Given the description of an element on the screen output the (x, y) to click on. 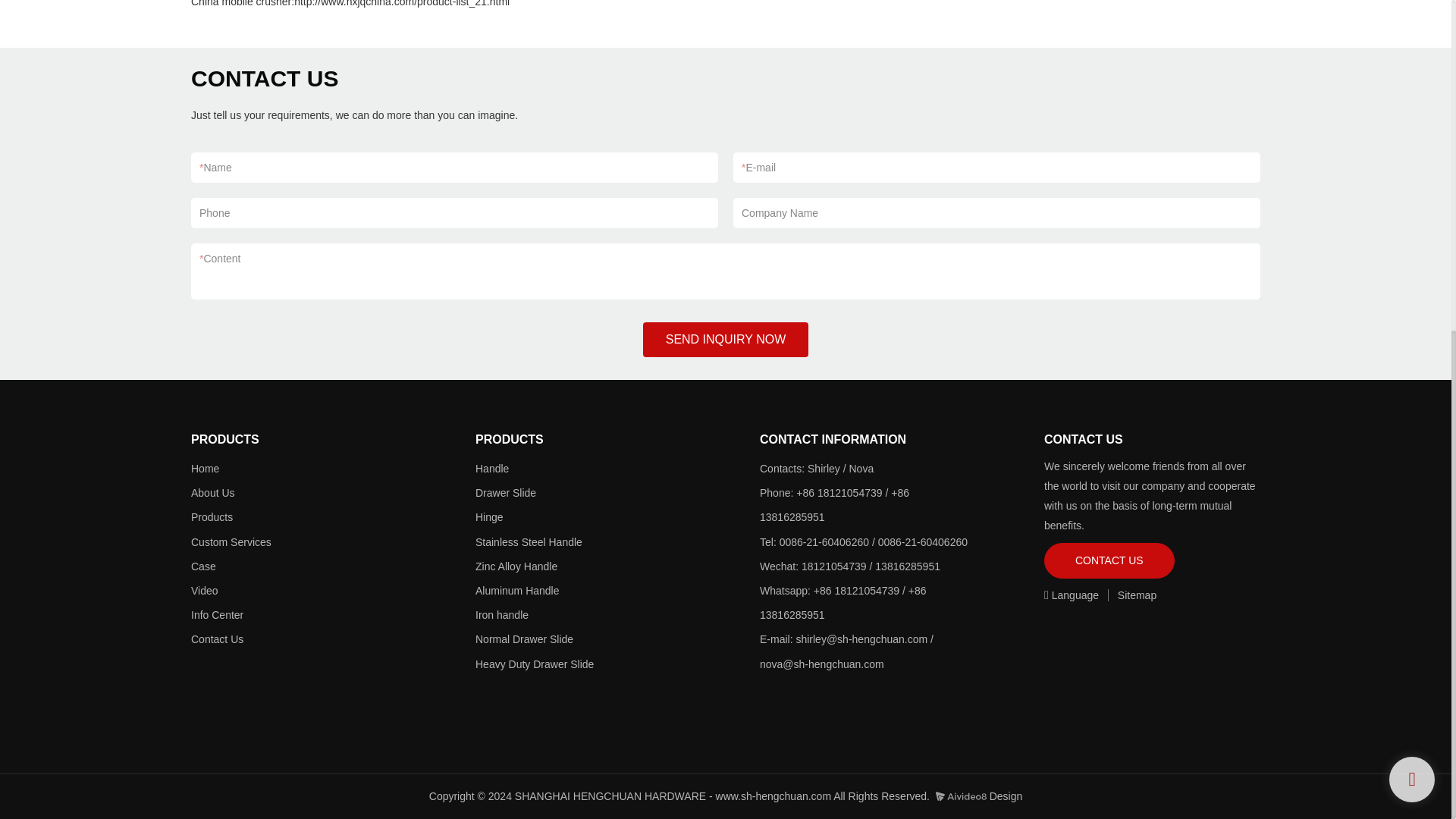
SEND INQUIRY NOW (726, 339)
Products (211, 517)
About Us (212, 492)
Custom Services (230, 541)
Home (204, 468)
Video (204, 590)
Case (202, 566)
